Given the description of an element on the screen output the (x, y) to click on. 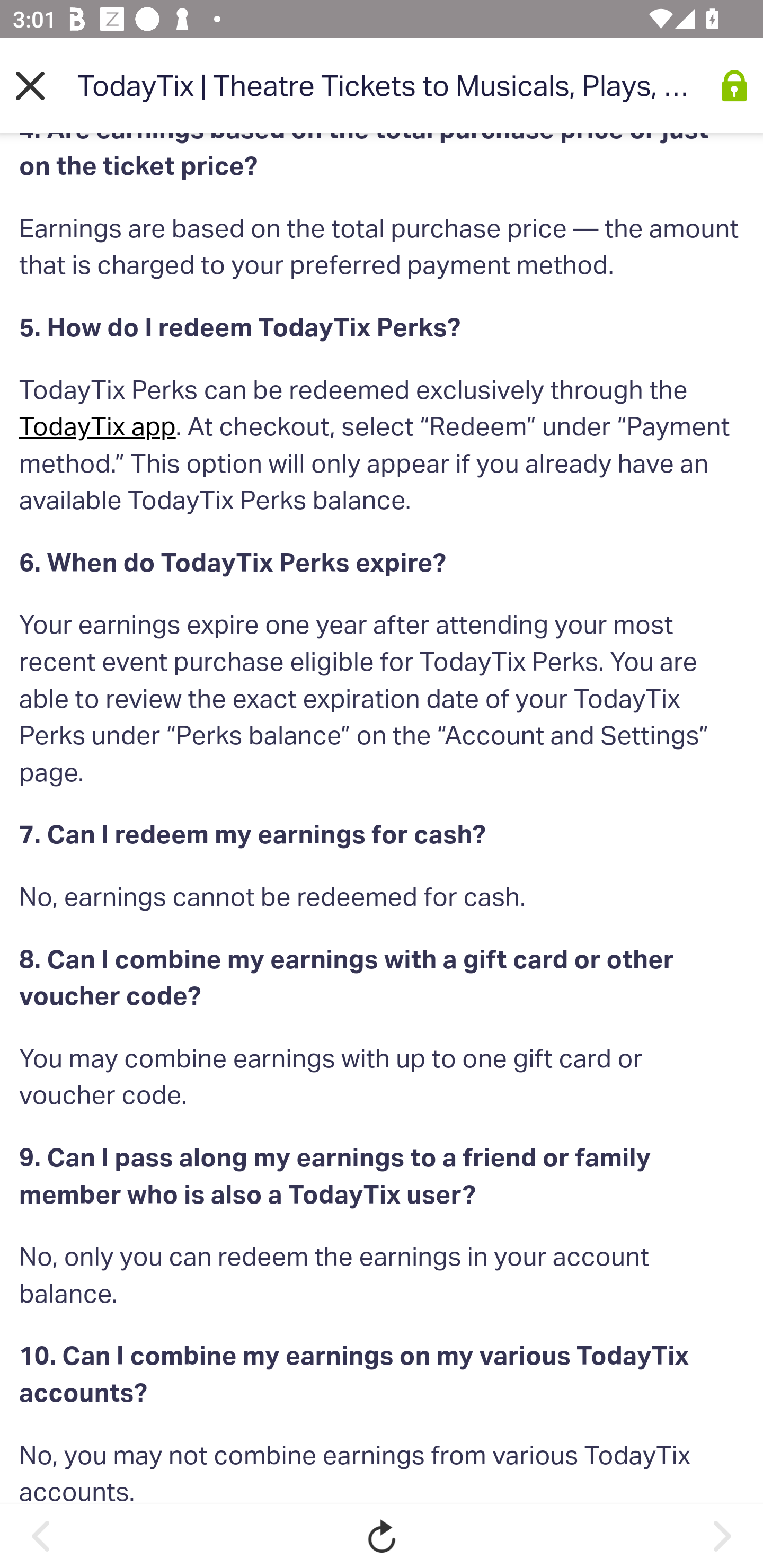
TodayTix app (97, 427)
